Given the description of an element on the screen output the (x, y) to click on. 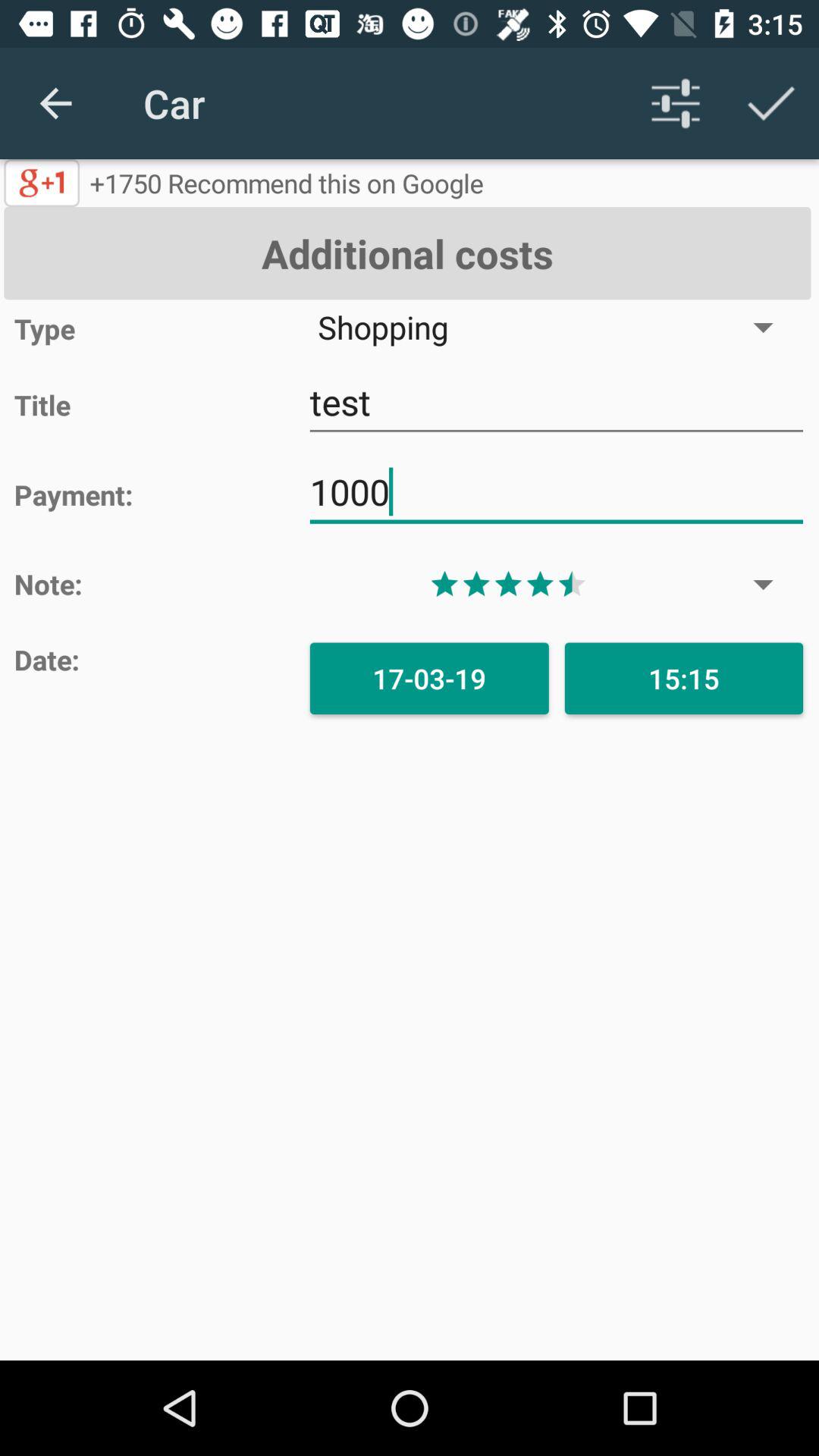
go to the text field with text test (556, 402)
click on the tick option on the top right corner (771, 103)
click on settings icon (675, 103)
click on the date which says 170319 (429, 678)
